Given the description of an element on the screen output the (x, y) to click on. 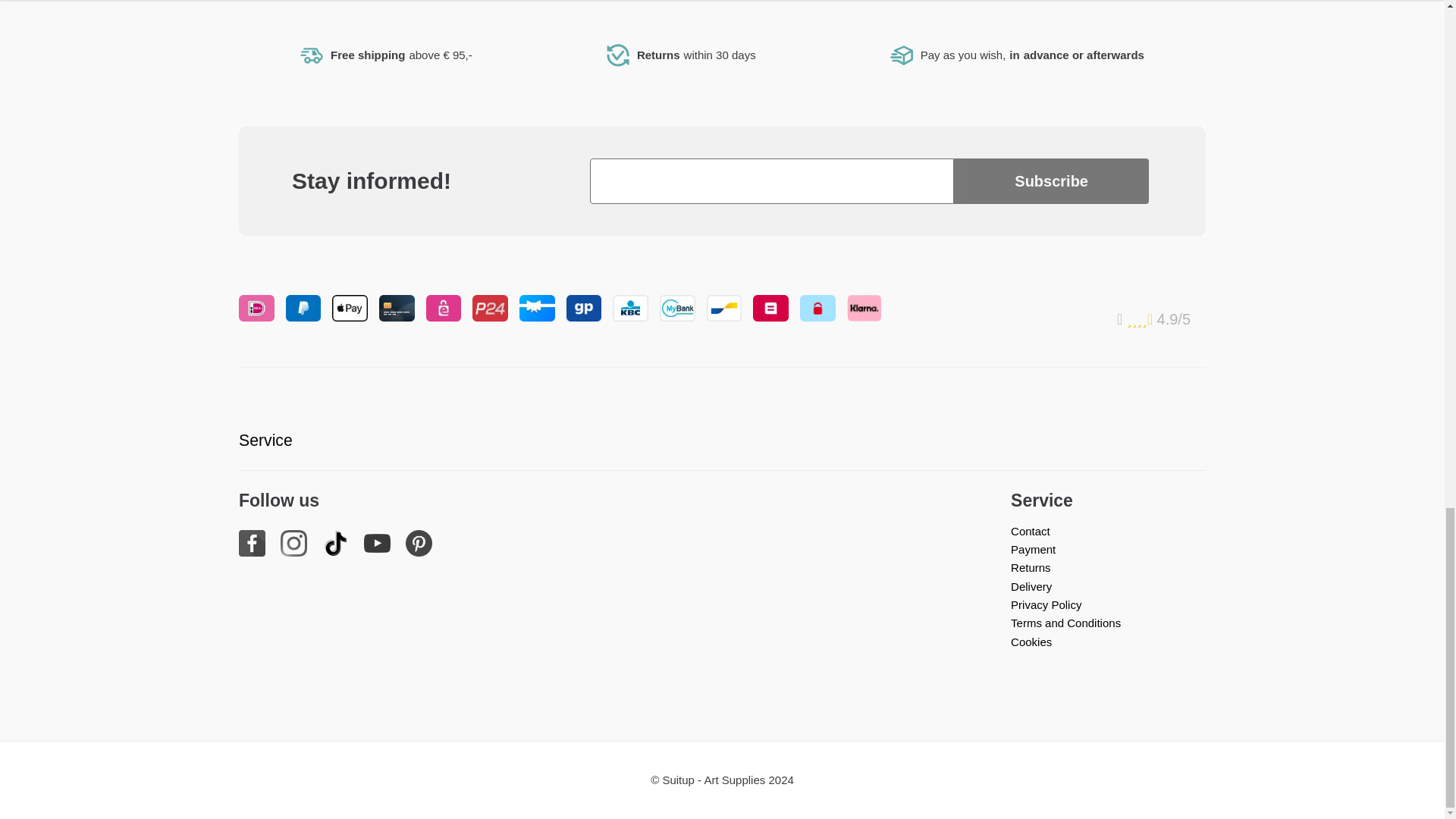
Subscribe (1050, 180)
